Given the description of an element on the screen output the (x, y) to click on. 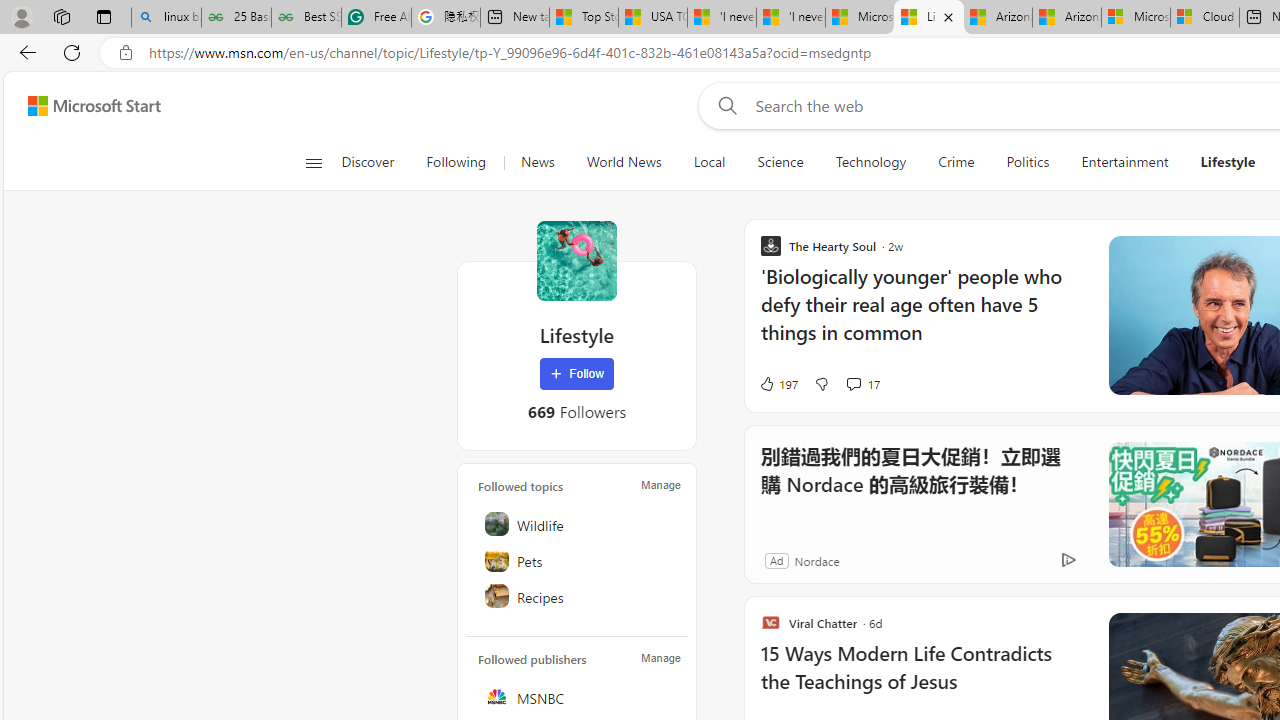
News (537, 162)
Lifestyle (1227, 162)
Skip to footer (82, 105)
New tab (515, 17)
Cloud Computing Services | Microsoft Azure (1205, 17)
15 Ways Modern Life Contradicts the Teachings of Jesus (922, 678)
Top Stories - MSN (584, 17)
Ad Choice (1068, 560)
Crime (956, 162)
News (537, 162)
Class: button-glyph (313, 162)
Close tab (948, 16)
